Given the description of an element on the screen output the (x, y) to click on. 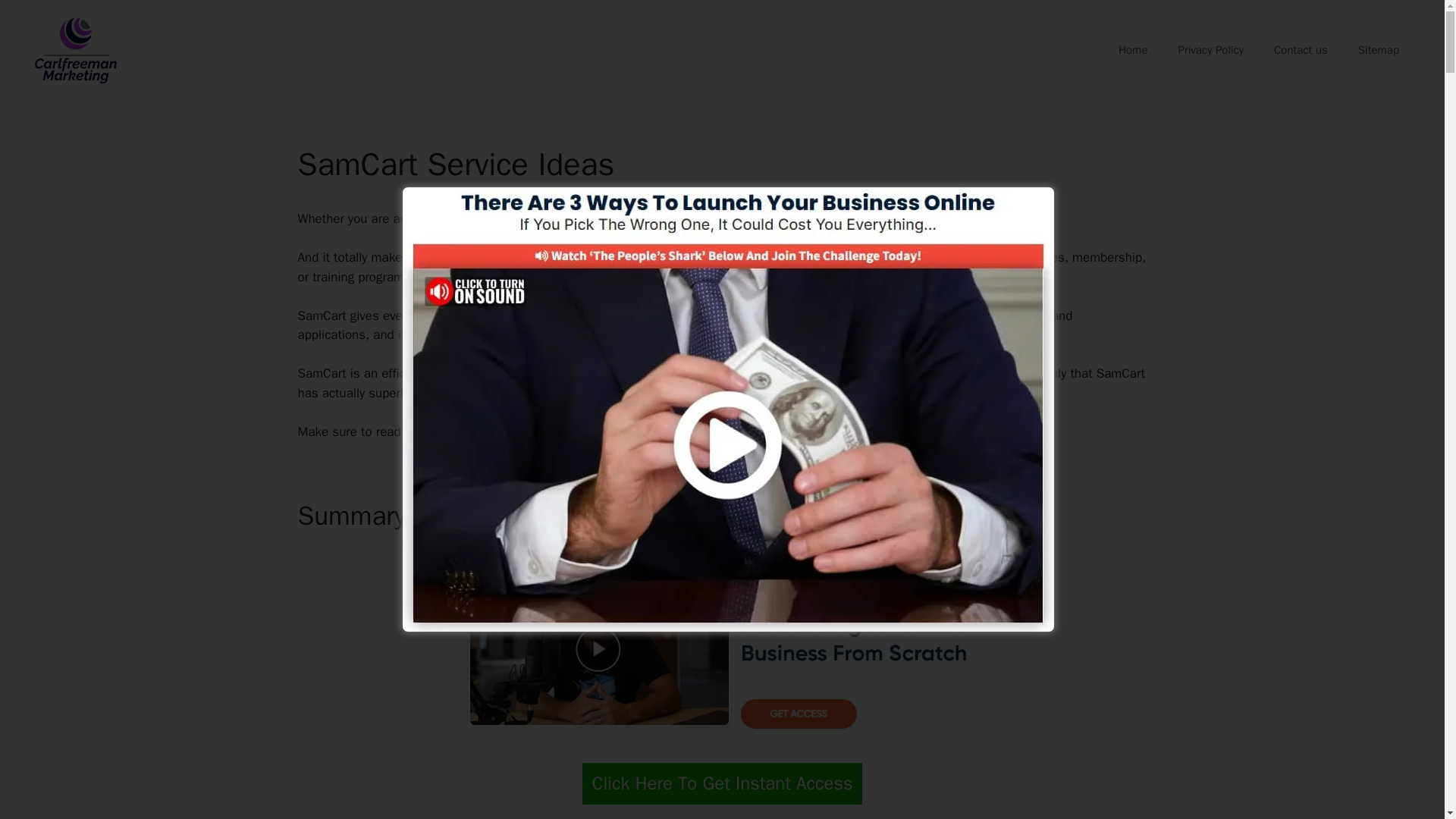
Sitemap (1377, 49)
Home (1132, 49)
Privacy Policy (1210, 49)
Contact us (1300, 49)
a great checkout cart (932, 218)
Click Here To Get Instant Access (722, 783)
